Given the description of an element on the screen output the (x, y) to click on. 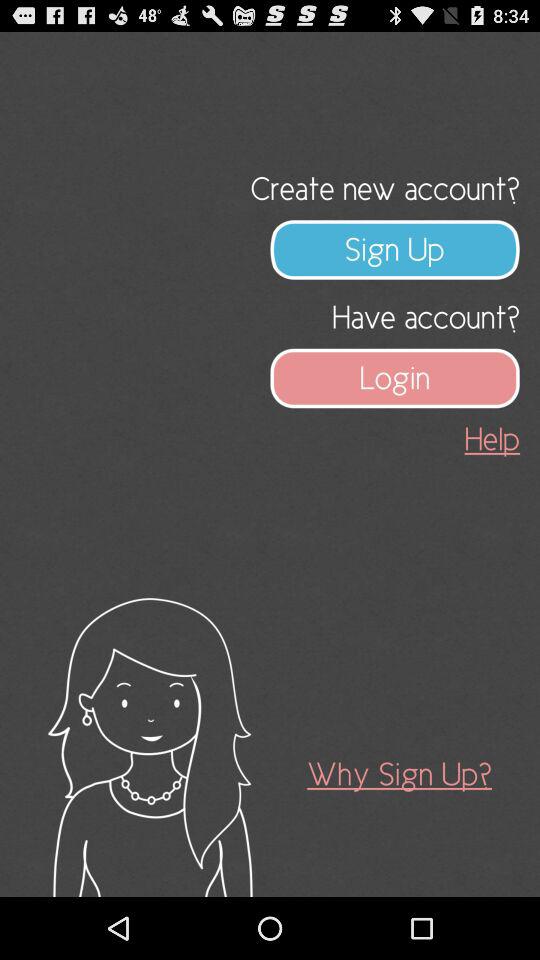
swipe to the help item (492, 438)
